Given the description of an element on the screen output the (x, y) to click on. 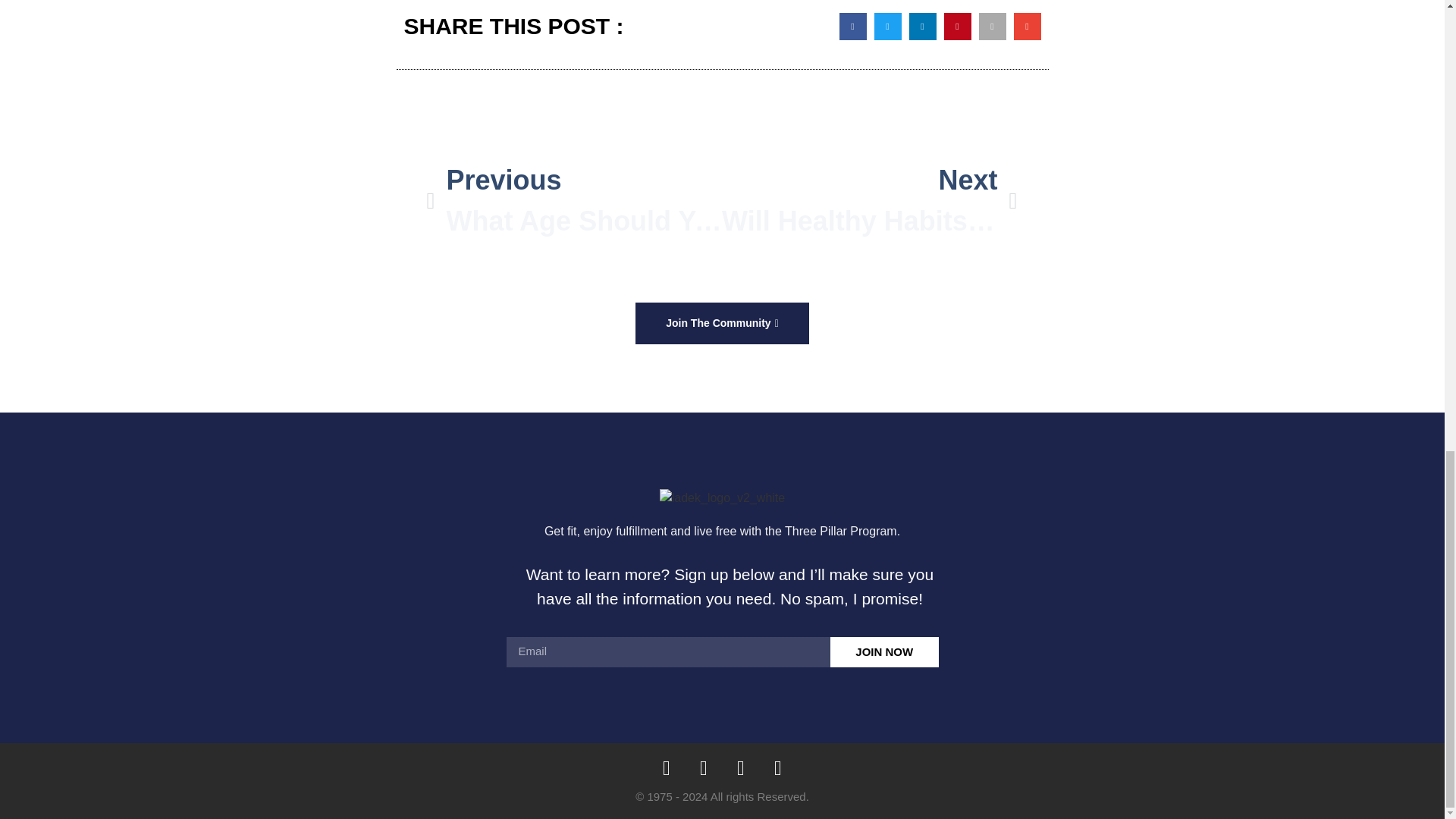
JOIN NOW (884, 652)
Join The Community (869, 200)
